Given the description of an element on the screen output the (x, y) to click on. 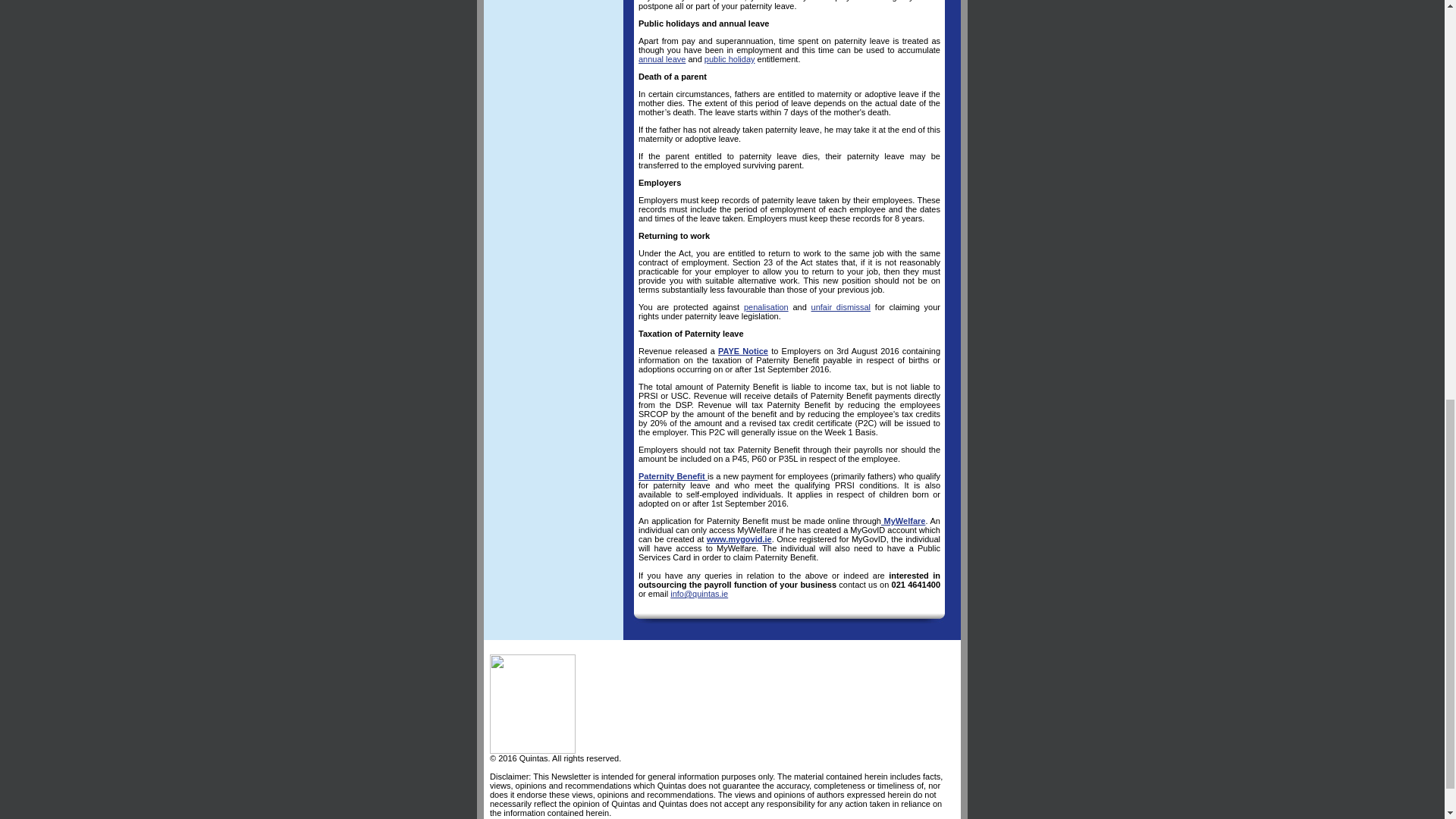
public holiday (729, 58)
MyWelfare (903, 520)
PAYE Notice (742, 350)
Paternity Benefit  (673, 475)
penalisation (766, 307)
unfair dismissal (840, 307)
annual leave (662, 58)
www.mygovid.ie (738, 538)
